Given the description of an element on the screen output the (x, y) to click on. 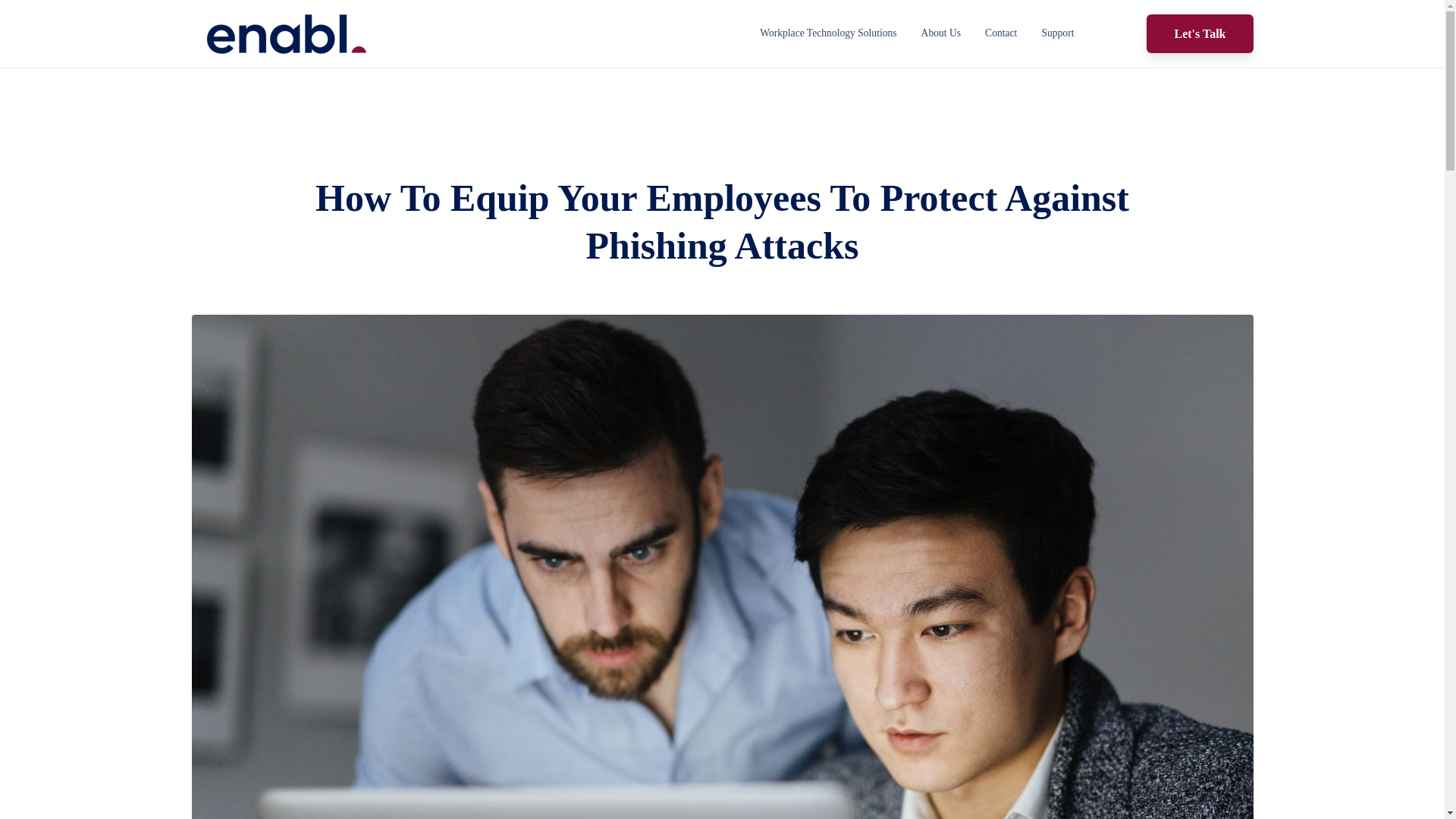
Enabl Logo-small (285, 35)
Let's Talk (1199, 33)
Workplace Technology Solutions (828, 33)
About Us (941, 33)
